Given the description of an element on the screen output the (x, y) to click on. 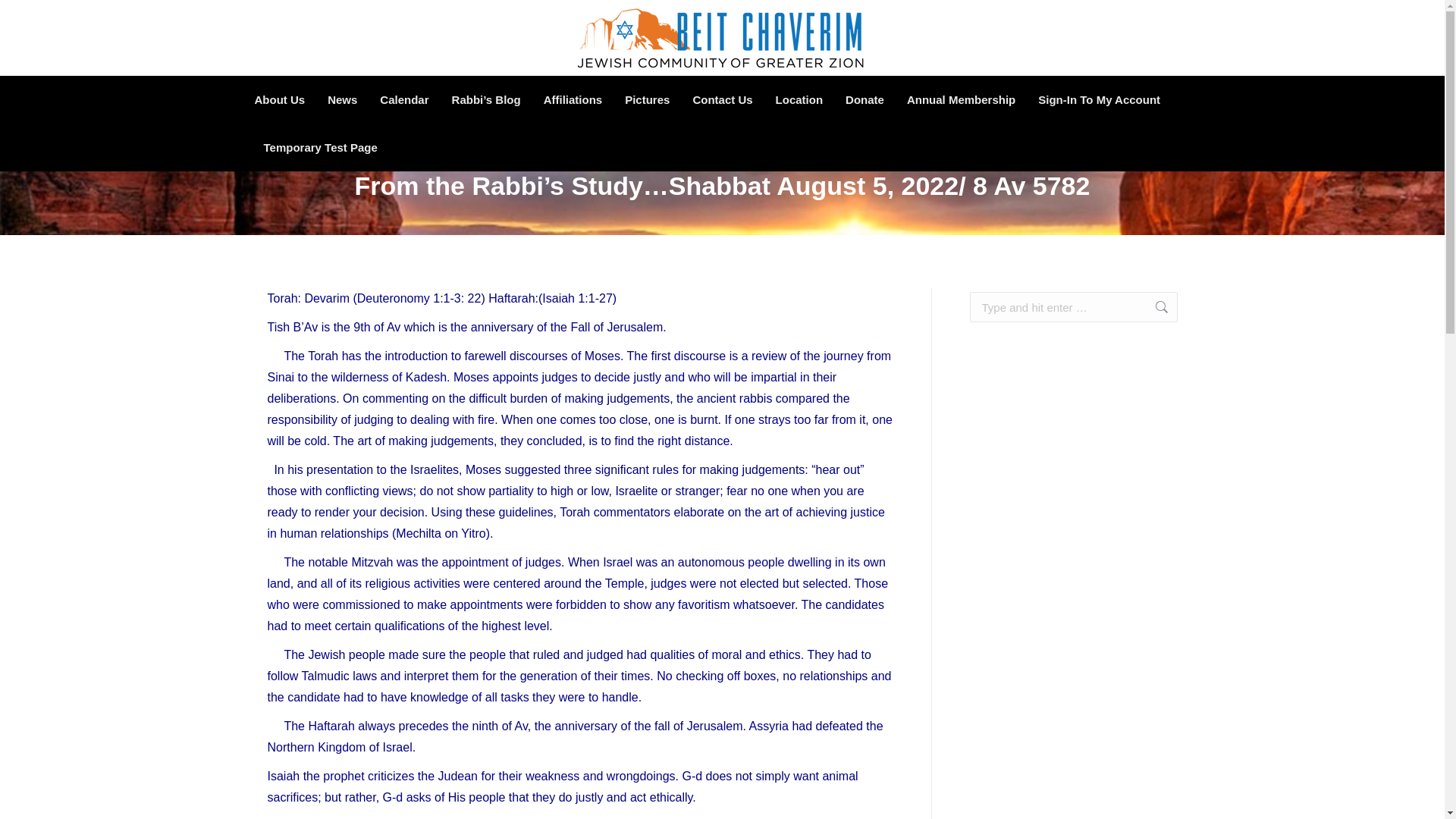
Temporary Test Page (319, 147)
Pictures (647, 99)
News (341, 99)
Annual Membership (960, 99)
Go! (1153, 306)
Calendar (403, 99)
Sign-In To My Account (1098, 99)
Donate (864, 99)
Contact Us (722, 99)
Go! (1153, 306)
Affiliations (573, 99)
About Us (279, 99)
Location (799, 99)
